Given the description of an element on the screen output the (x, y) to click on. 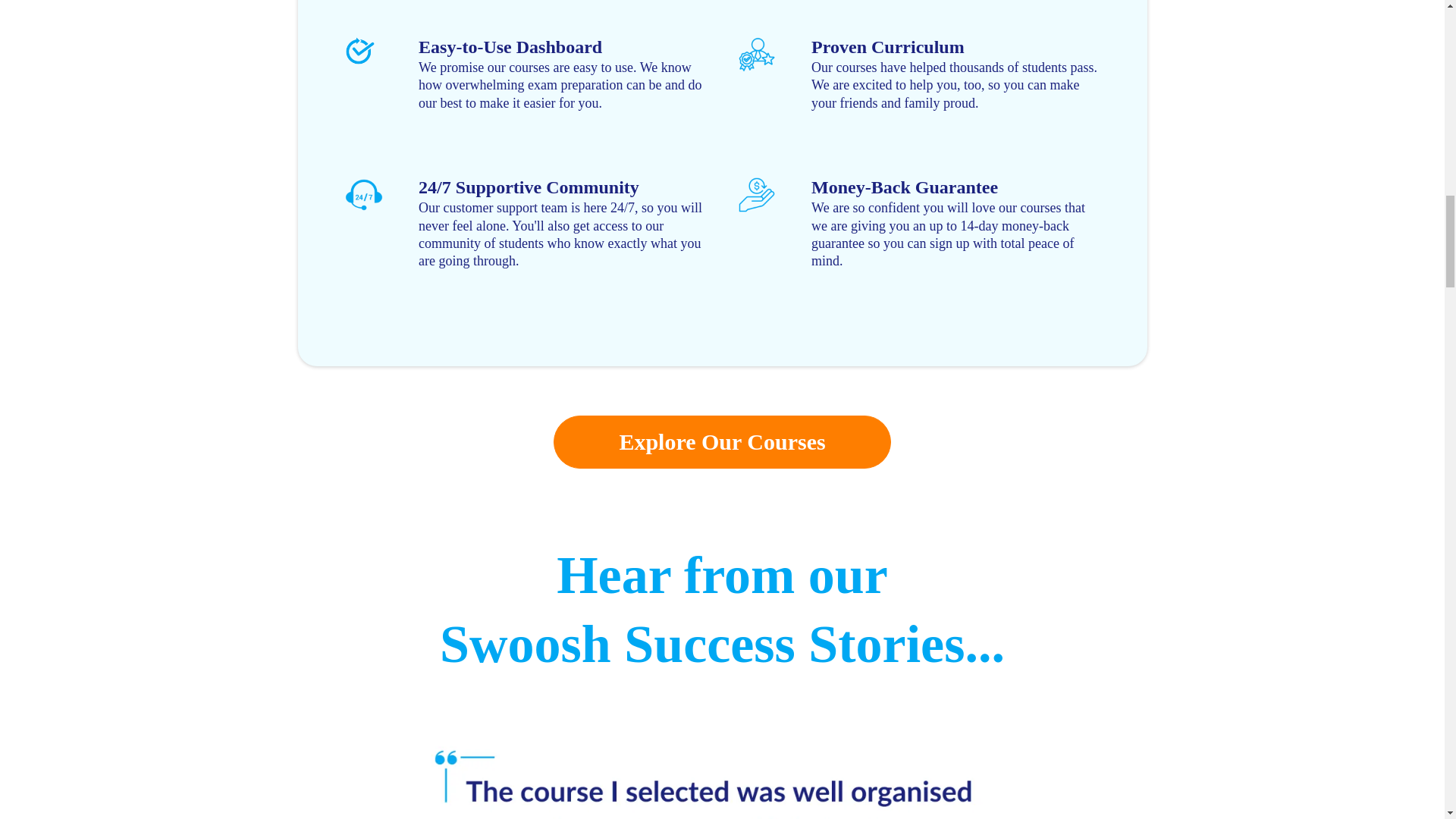
Explore Our Courses (721, 441)
